Given the description of an element on the screen output the (x, y) to click on. 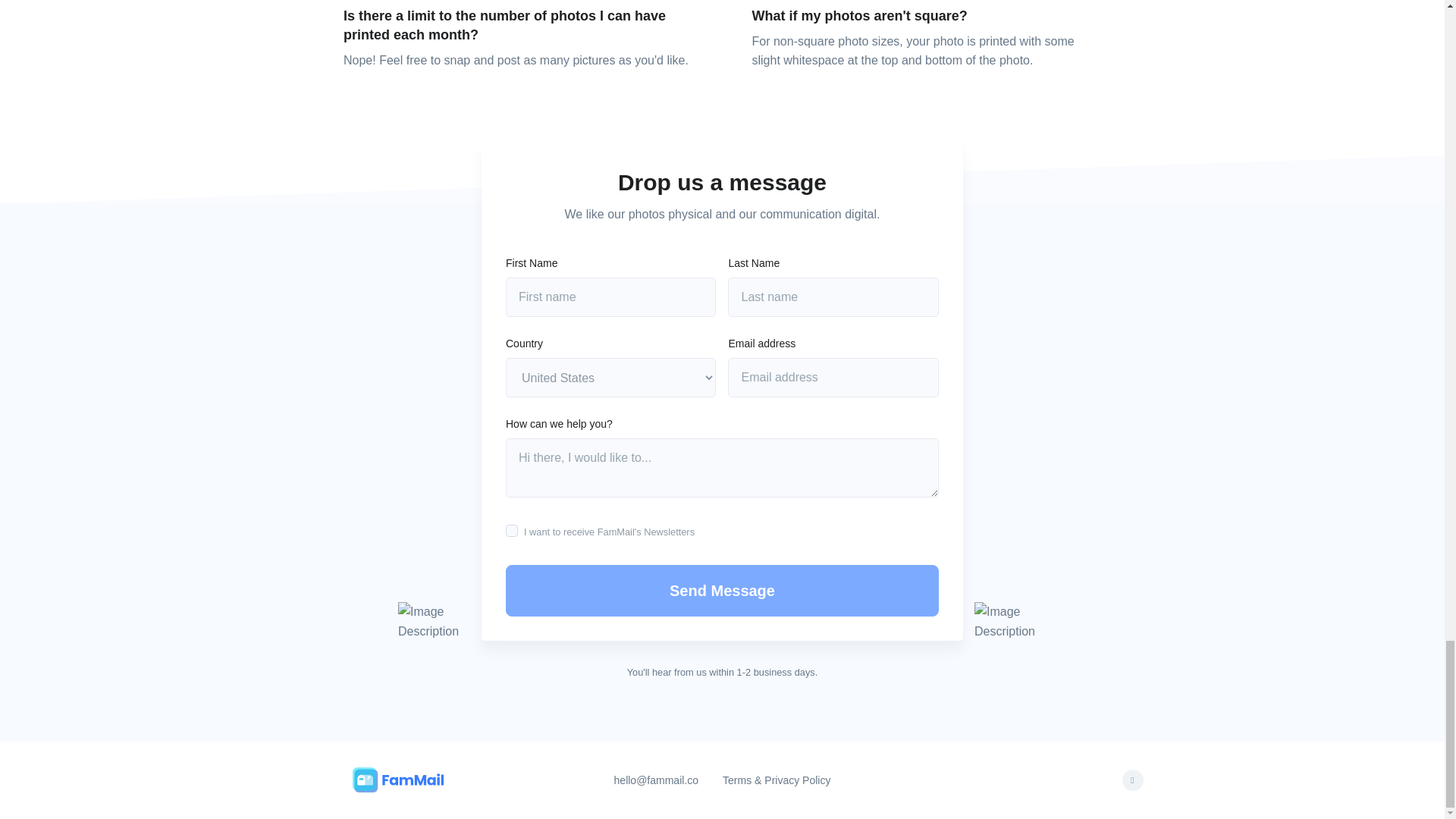
Send Message (722, 590)
Send Message (722, 590)
